Given the description of an element on the screen output the (x, y) to click on. 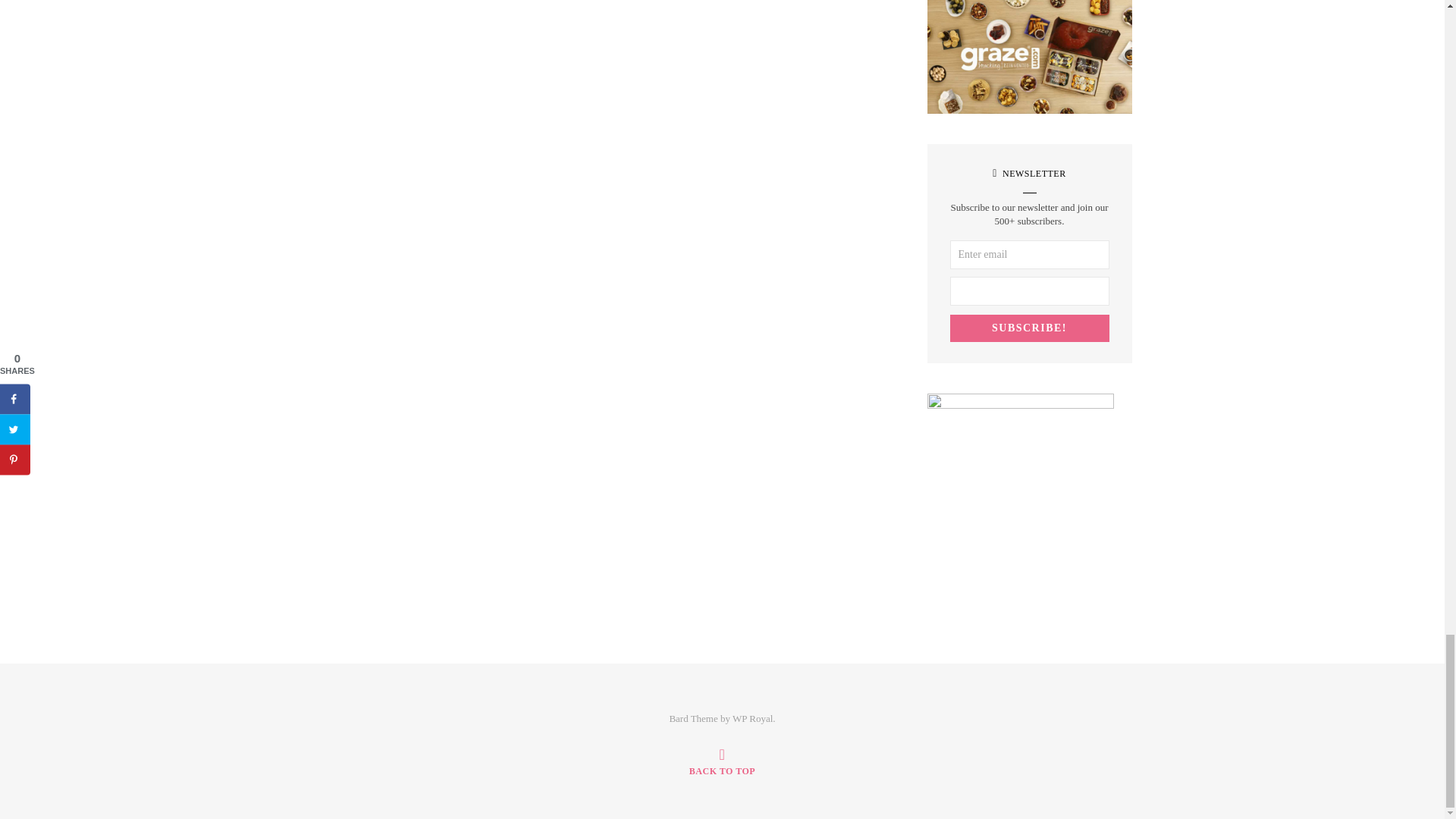
Subscribe! (1028, 328)
BACK TO TOP (722, 761)
